Given the description of an element on the screen output the (x, y) to click on. 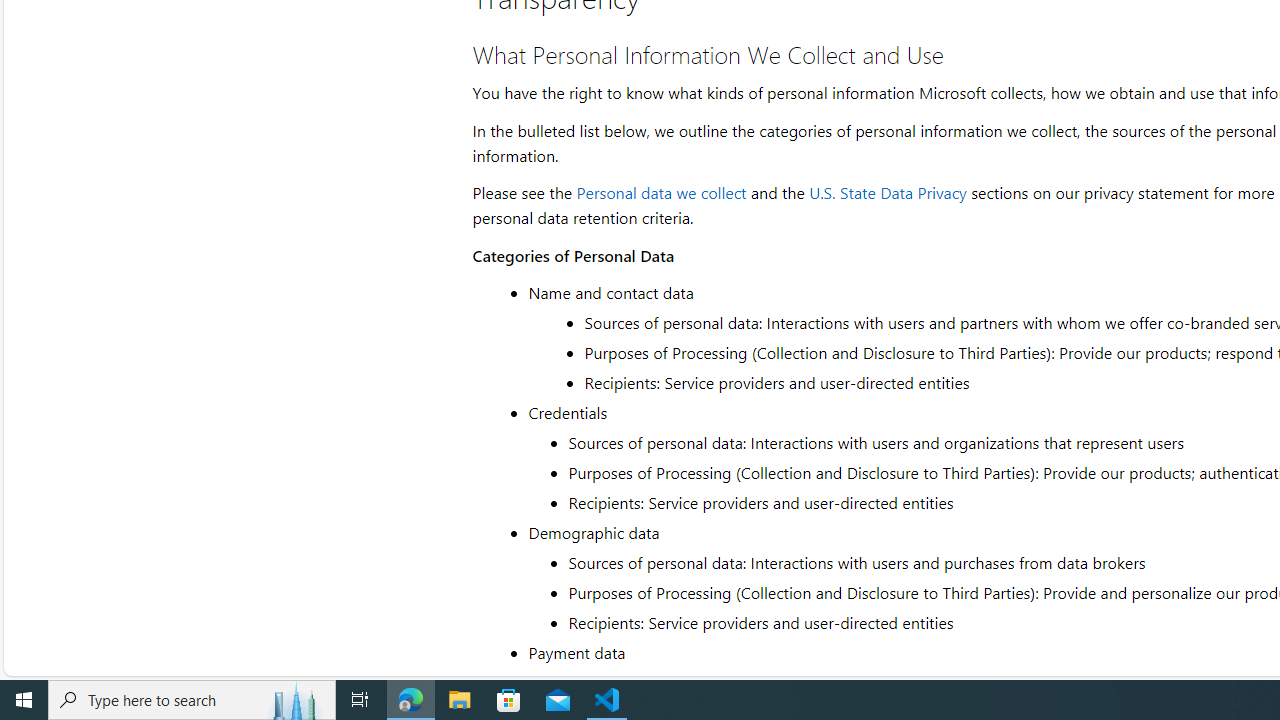
Personal data we collect (661, 192)
U.S. State Data Privacy (887, 192)
